Given the description of an element on the screen output the (x, y) to click on. 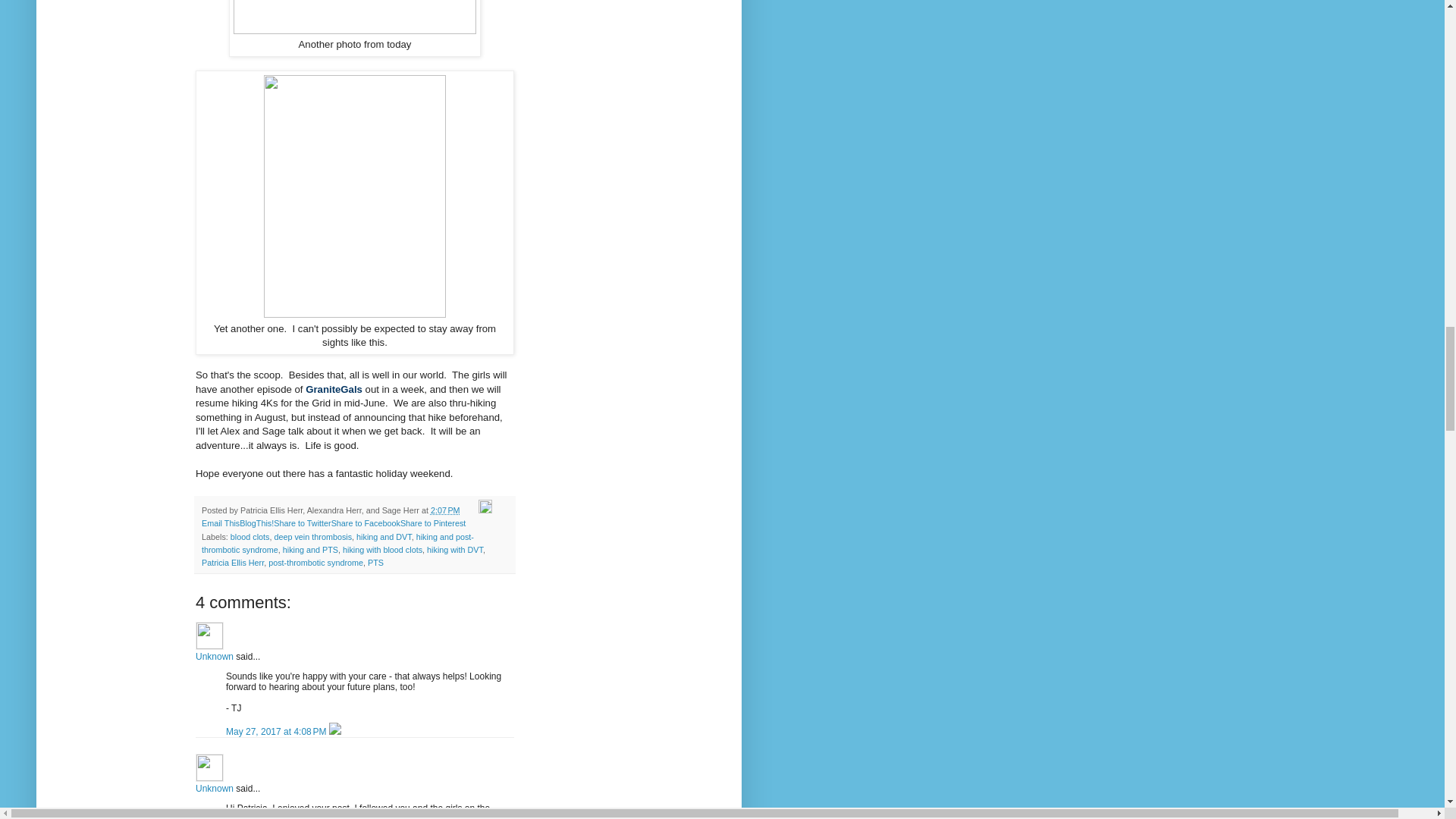
blood clots (249, 536)
Delete Comment (334, 731)
Email This (221, 522)
Share to Pinterest (432, 522)
Edit Post (485, 510)
BlogThis! (256, 522)
hiking and DVT (384, 536)
Email Post (471, 510)
Share to Facebook (365, 522)
BlogThis! (256, 522)
Unknown (209, 635)
Email This (221, 522)
Share to Pinterest (432, 522)
comment permalink (277, 731)
